Given the description of an element on the screen output the (x, y) to click on. 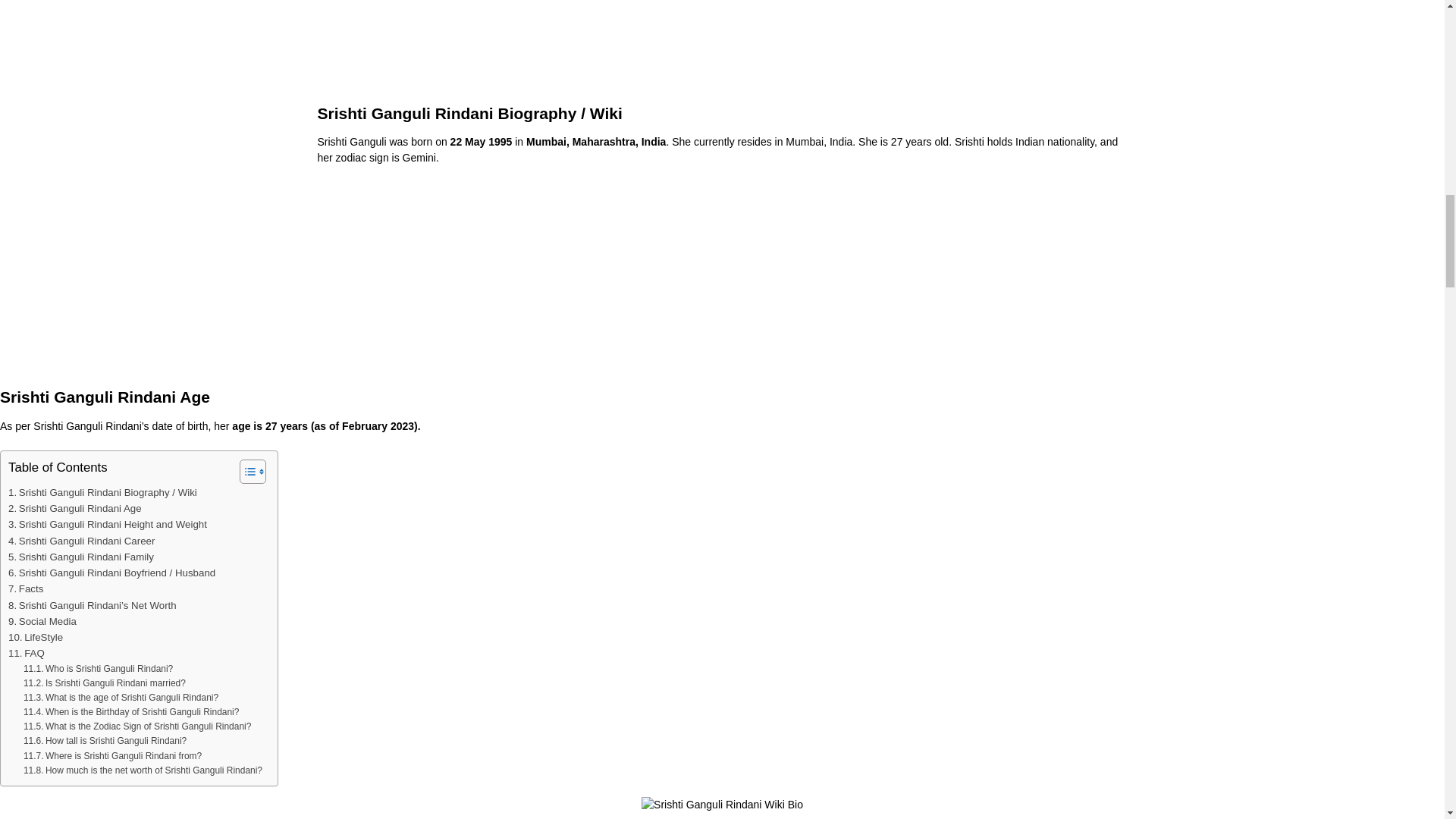
Srishti Ganguli Rindani Age (74, 508)
Who is Srishti Ganguli Rindani? (98, 668)
What is the Zodiac Sign of Srishti Ganguli Rindani? (136, 726)
Srishti Ganguli Rindani Career (81, 540)
Social Media (42, 621)
How much is the net worth of Srishti Ganguli Rindani? (142, 770)
Srishti Ganguli Rindani Age (74, 508)
Is Srishti Ganguli Rindani married? (104, 683)
Who is Srishti Ganguli Rindani? (98, 668)
Srishti Ganguli Rindani Height and Weight (107, 524)
